Given the description of an element on the screen output the (x, y) to click on. 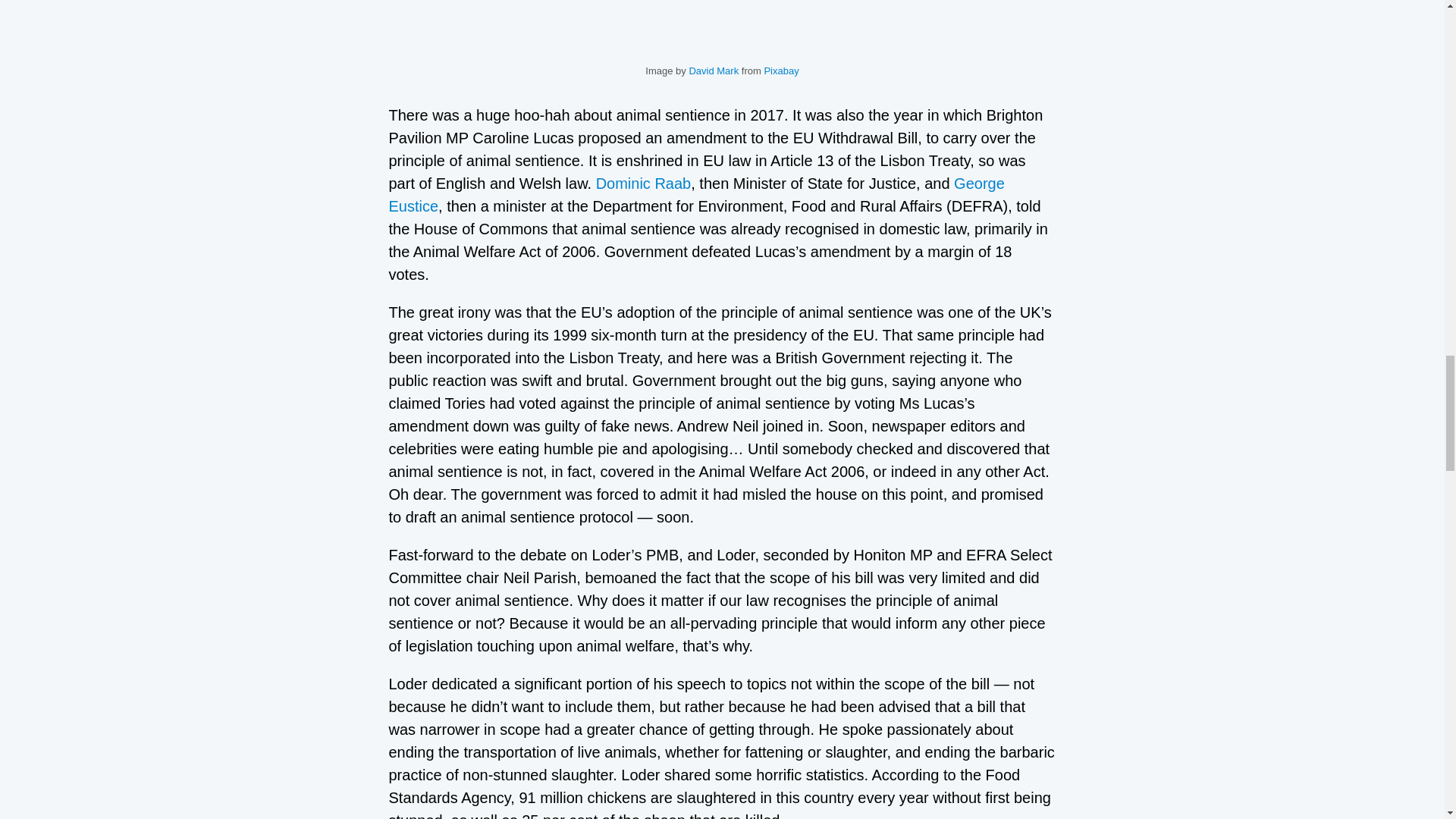
Dominic Raab (643, 183)
David Mark (713, 70)
Pixabay (779, 70)
George Eustice (696, 194)
